Given the description of an element on the screen output the (x, y) to click on. 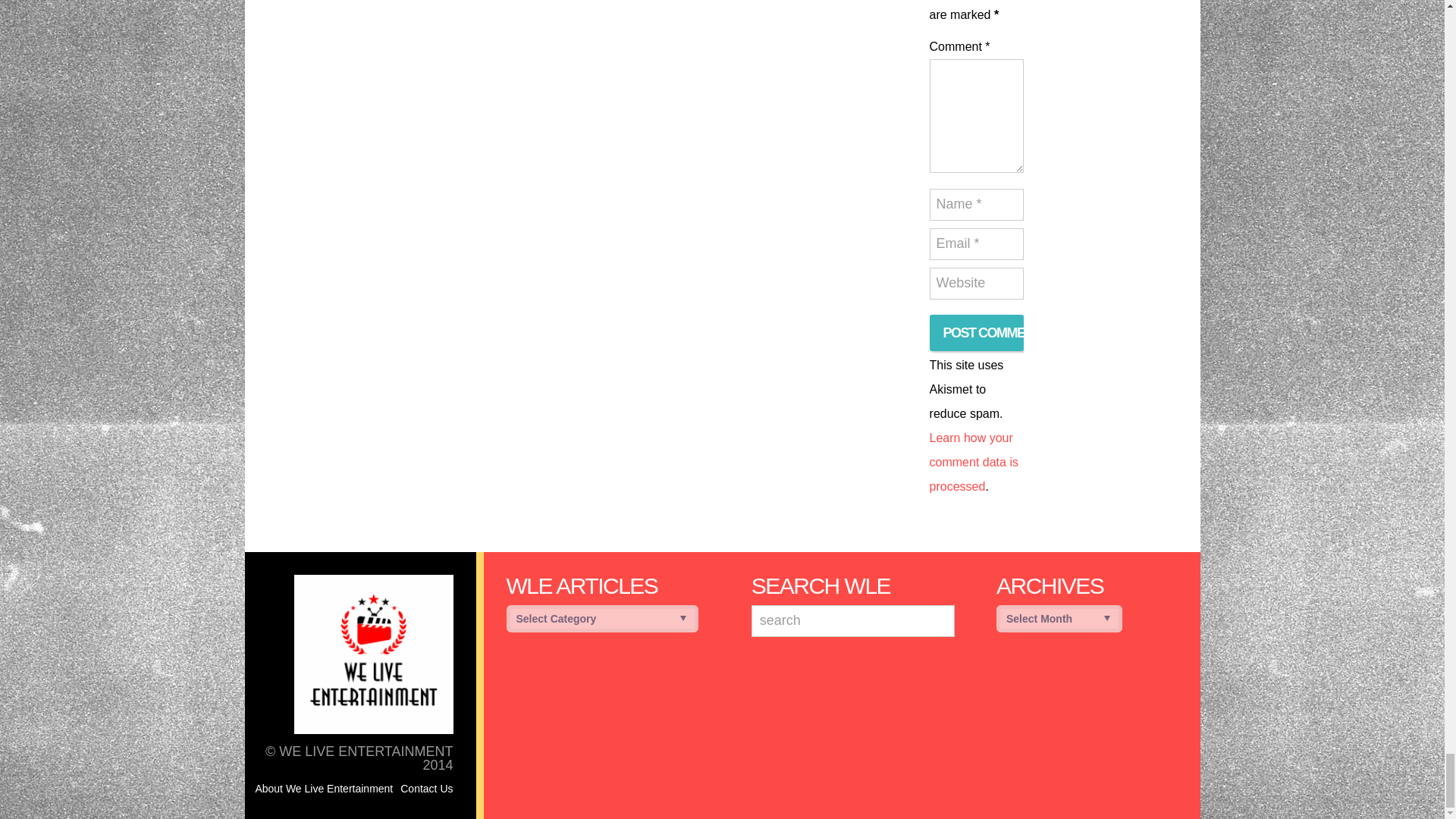
Post Comment (977, 332)
